Given the description of an element on the screen output the (x, y) to click on. 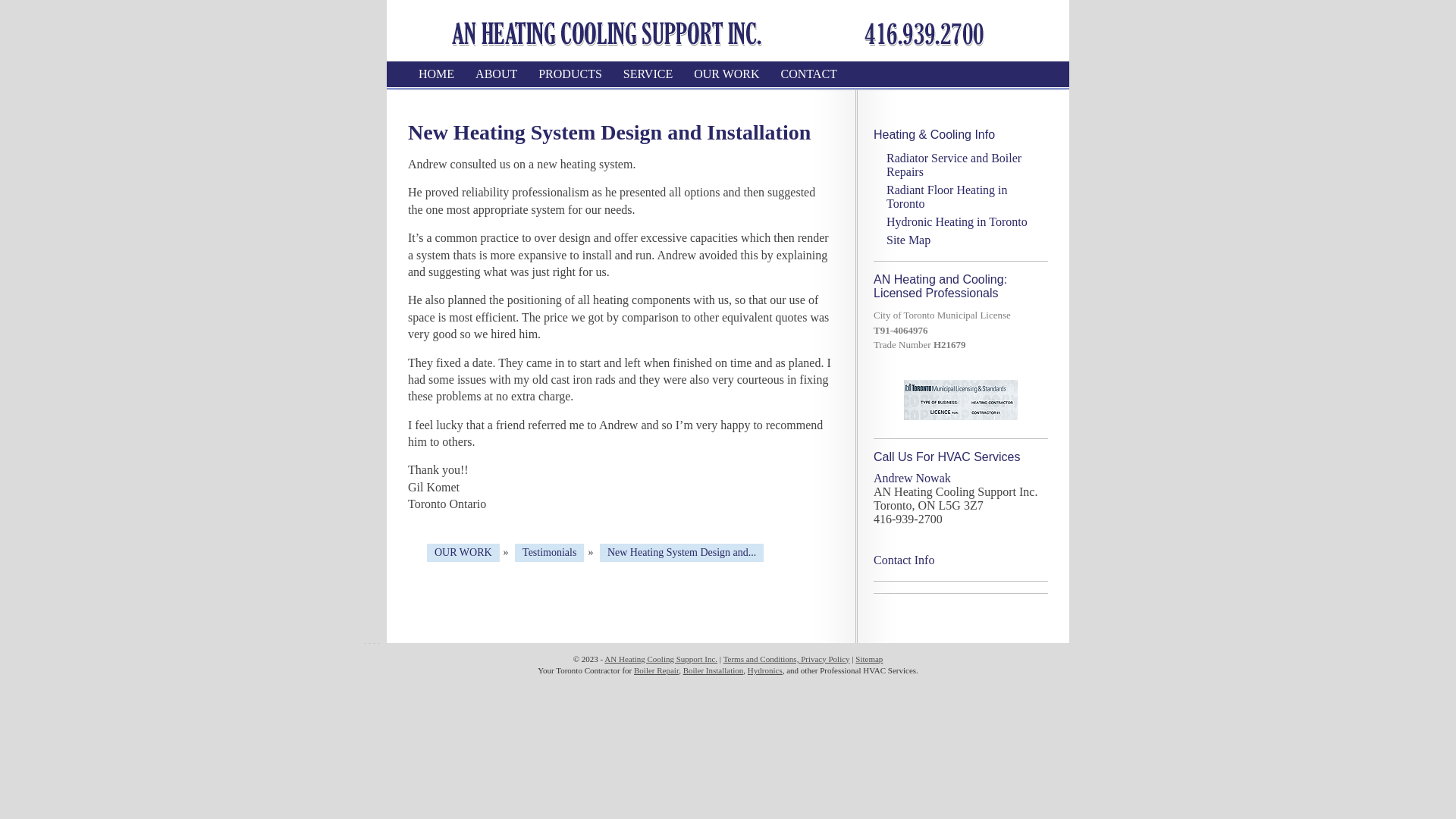
Boiler Repair Element type: text (655, 669)
ABOUT Element type: text (496, 73)
Site Map Element type: text (908, 239)
Sitemap Element type: text (868, 657)
Testimonials Element type: text (548, 552)
SERVICE Element type: text (647, 73)
OUR WORK Element type: text (726, 73)
Toronto-HVAC-Contractor-License Element type: hover (960, 399)
AN Heating Cooling Support Inc. Element type: text (660, 657)
Radiator Service and Boiler Repairs Element type: text (953, 164)
Terms and Conditions, Privacy Policy Element type: text (786, 657)
Andrew Nowak Element type: text (911, 477)
New Heating System Design and... Element type: text (681, 552)
Contact Info Element type: text (903, 559)
PRODUCTS Element type: text (570, 73)
Hydronics Element type: text (764, 669)
Hydronic Heating in Toronto Element type: text (956, 221)
Radiant Floor Heating in Toronto Element type: text (946, 196)
Boiler Installation Element type: text (713, 669)
HOME Element type: text (436, 73)
CONTACT Element type: text (809, 73)
OUR WORK Element type: text (462, 552)
